Given the description of an element on the screen output the (x, y) to click on. 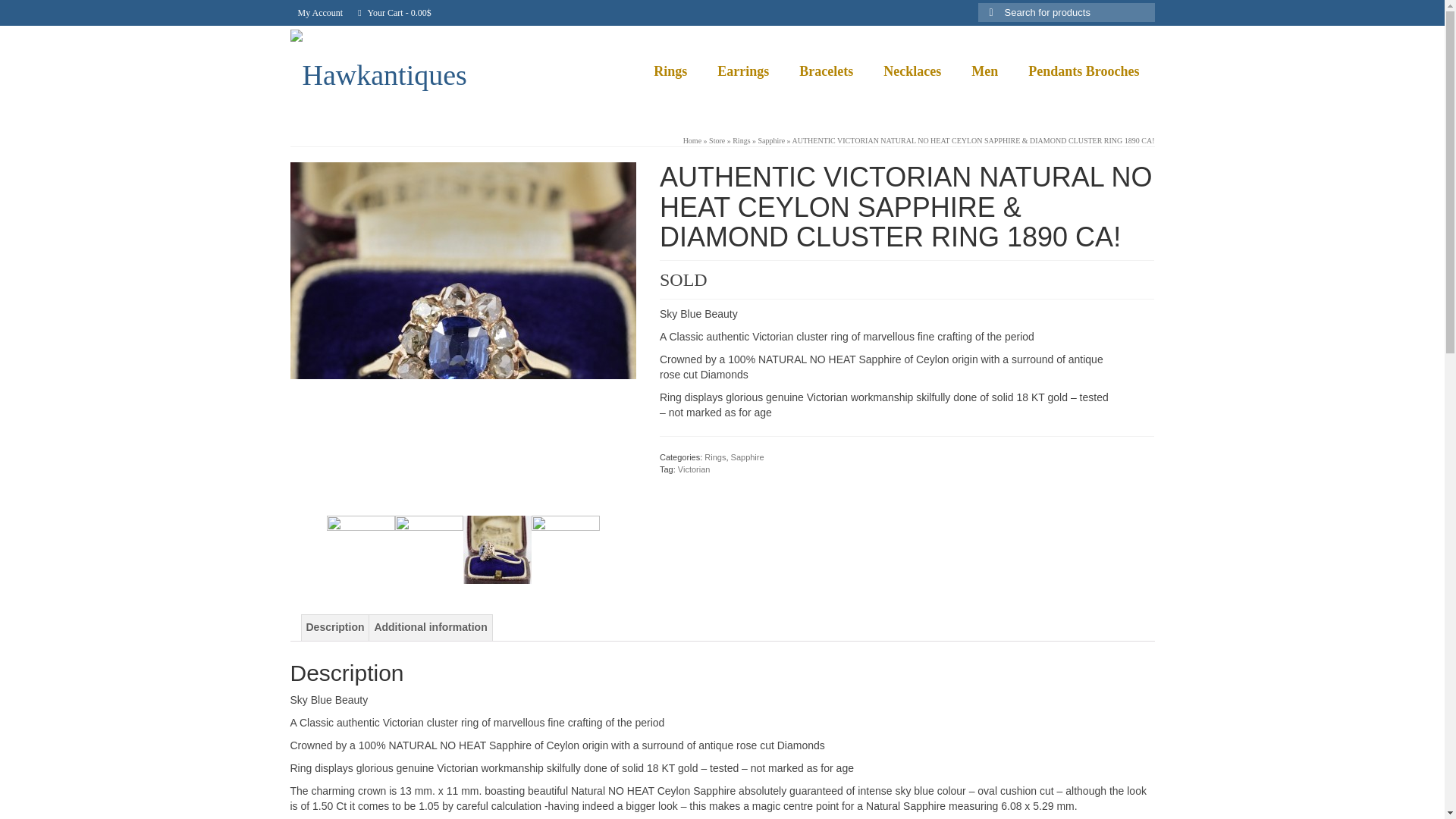
Rings (714, 456)
My Account (319, 12)
Necklaces (911, 71)
Pendants Brooches (1083, 71)
Victorian (694, 469)
Description (335, 627)
8466 (565, 548)
8462 (462, 334)
Rings (740, 140)
Additional information (430, 627)
Sapphire (772, 140)
8465 (497, 548)
View your shopping cart (394, 12)
8463 (360, 548)
Home (691, 140)
